Given the description of an element on the screen output the (x, y) to click on. 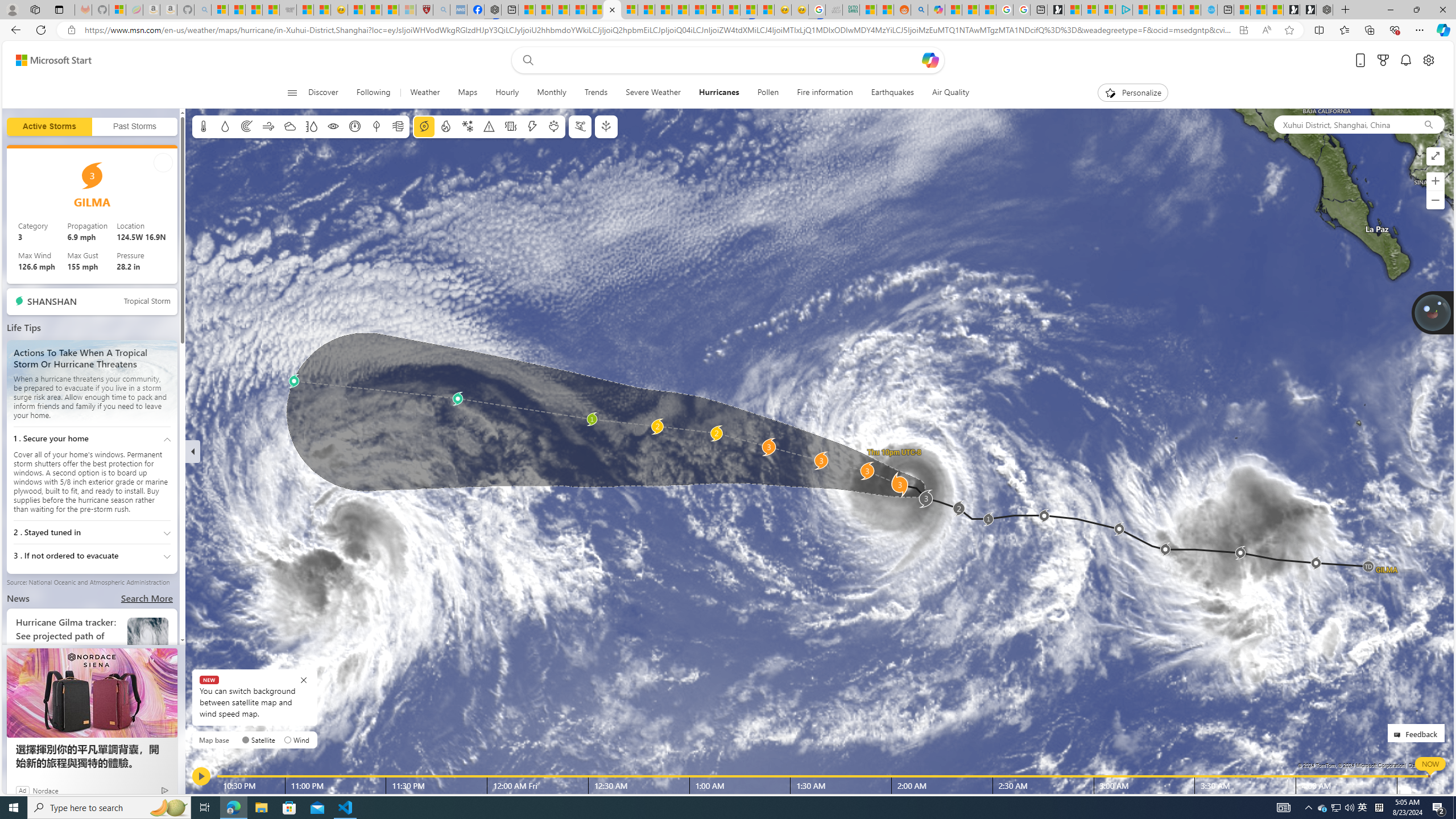
Severe Weather (652, 92)
Humidity (311, 126)
Air Quality (946, 92)
Hurricanes (718, 92)
Zoom out (1435, 199)
Pollen (767, 92)
Maps (467, 92)
AutomationID: radioButton-DS-EntryPoint1-1-layer-subtype-0-1 (287, 739)
